Given the description of an element on the screen output the (x, y) to click on. 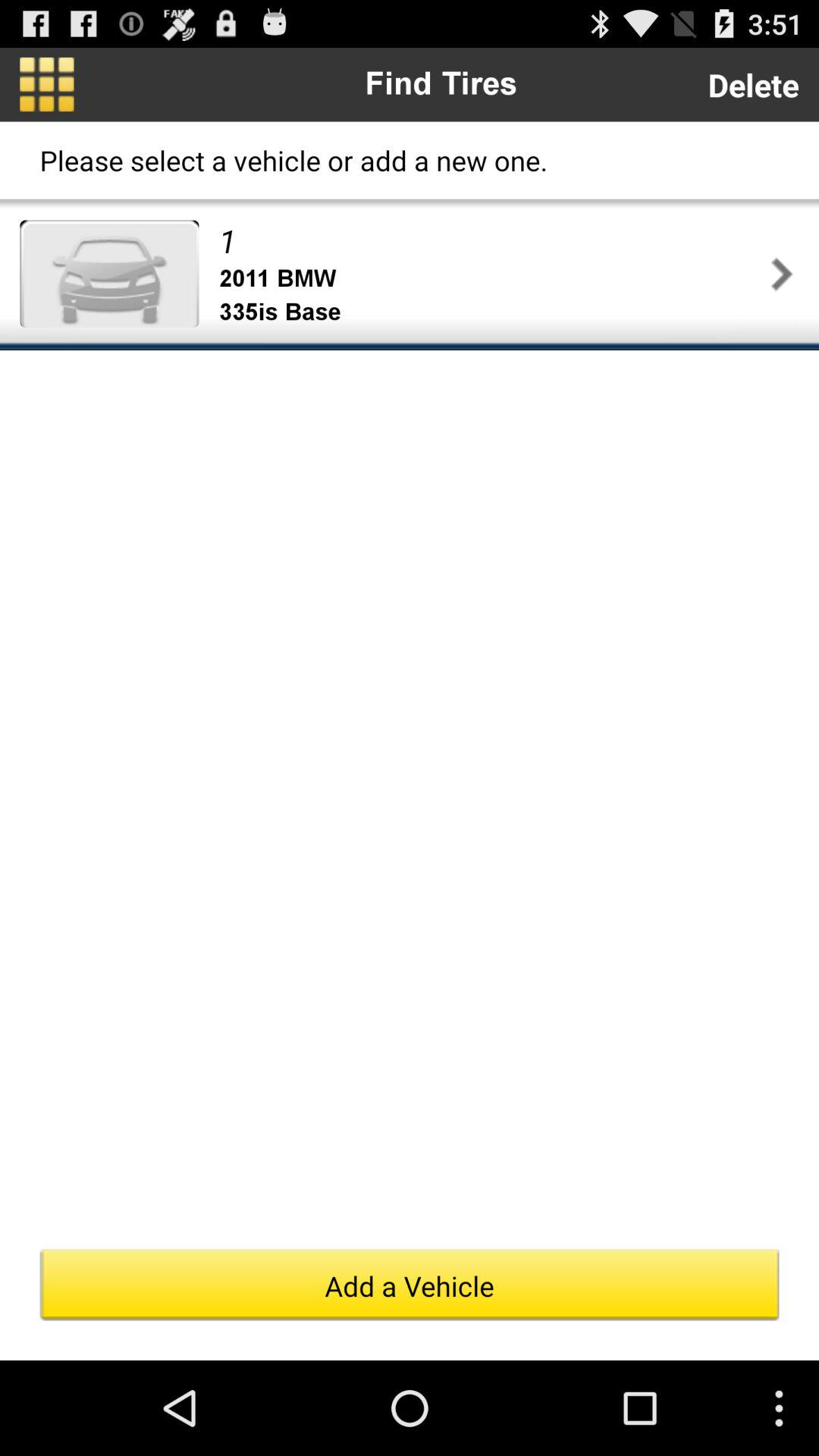
tap the icon to the right of find tires app (753, 84)
